Given the description of an element on the screen output the (x, y) to click on. 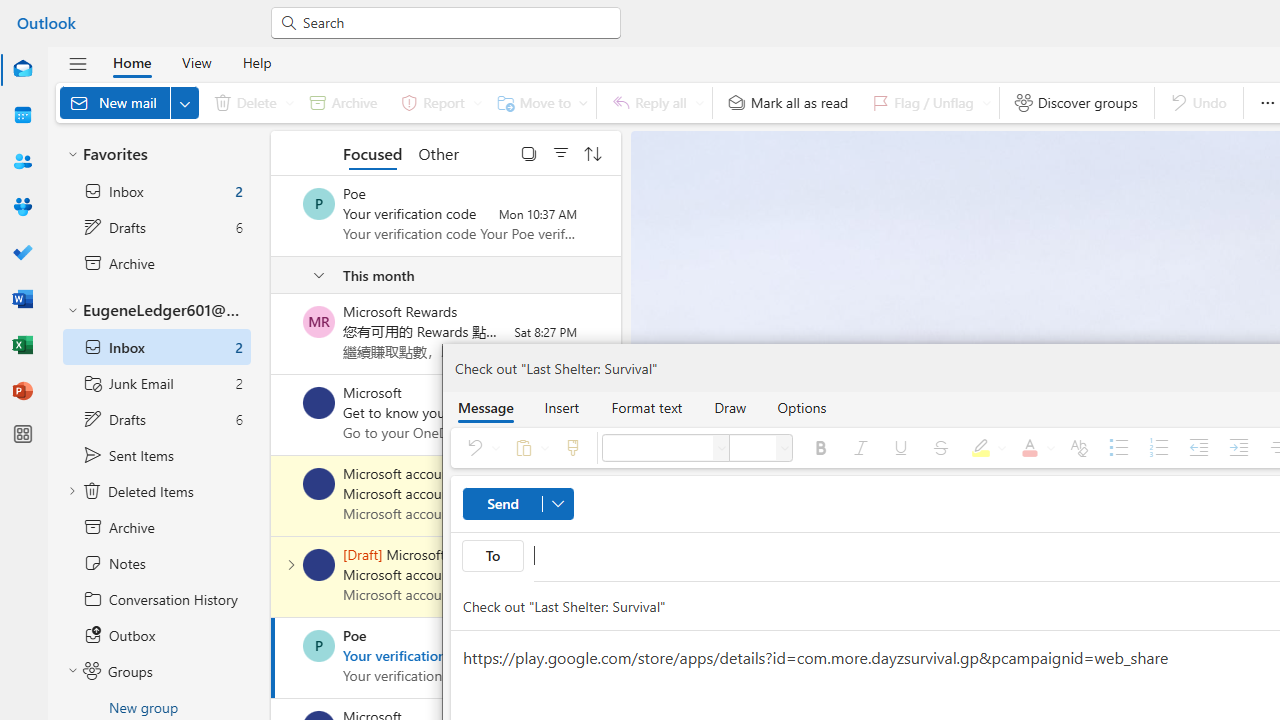
To Do (22, 254)
Font (657, 448)
To Do (22, 252)
